Given the description of an element on the screen output the (x, y) to click on. 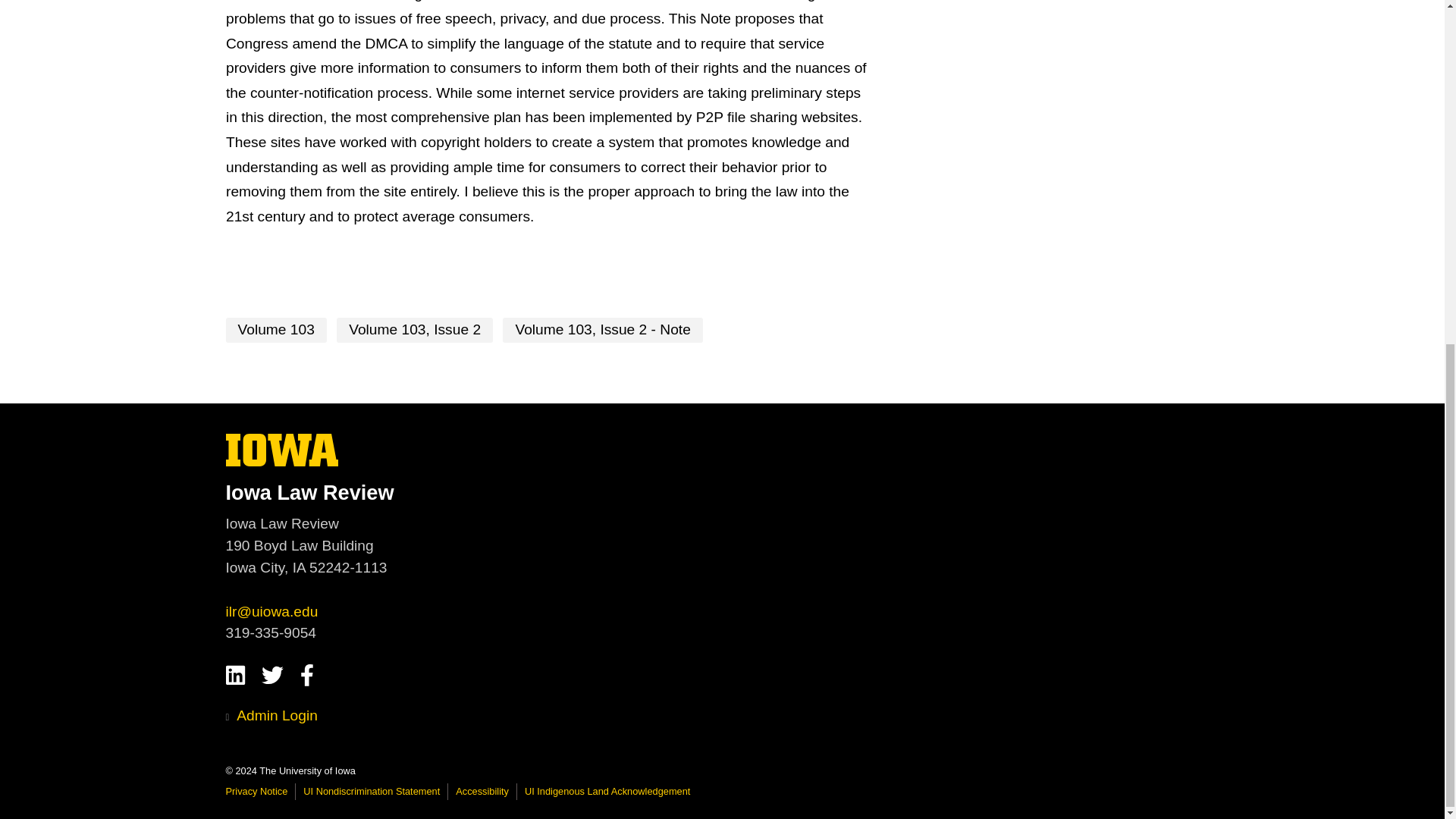
Admin Login (282, 461)
Volume 103 (271, 715)
UI Nondiscrimination Statement (275, 330)
Volume 103, Issue 2 (370, 790)
Privacy Notice (414, 330)
Accessibility (256, 790)
UI Indigenous Land Acknowledgement (481, 790)
Iowa Law Review (607, 790)
Volume 103, Issue 2 - Note (722, 492)
University of Iowa (601, 330)
